Given the description of an element on the screen output the (x, y) to click on. 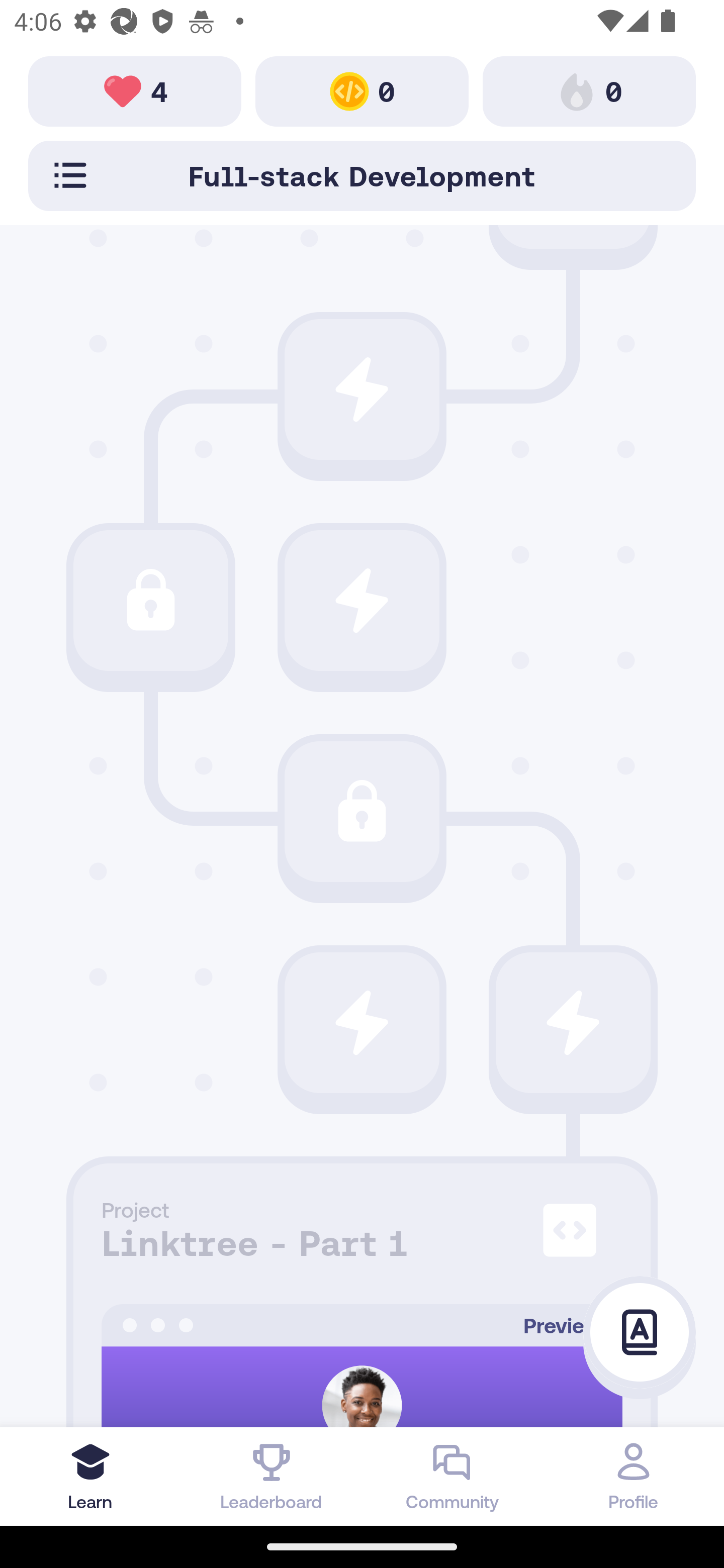
Path Toolbar Image 4 (134, 90)
Path Toolbar Image 0 (361, 90)
Path Toolbar Image 0 (588, 90)
Path Toolbar Selector Full-stack Development (361, 175)
Path Icon (361, 389)
Path Icon (150, 600)
Path Icon (361, 600)
Path Icon (361, 811)
Path Icon (361, 1021)
Path Icon (572, 1021)
Glossary Icon (639, 1332)
Leaderboard (271, 1475)
Community (452, 1475)
Profile (633, 1475)
